Given the description of an element on the screen output the (x, y) to click on. 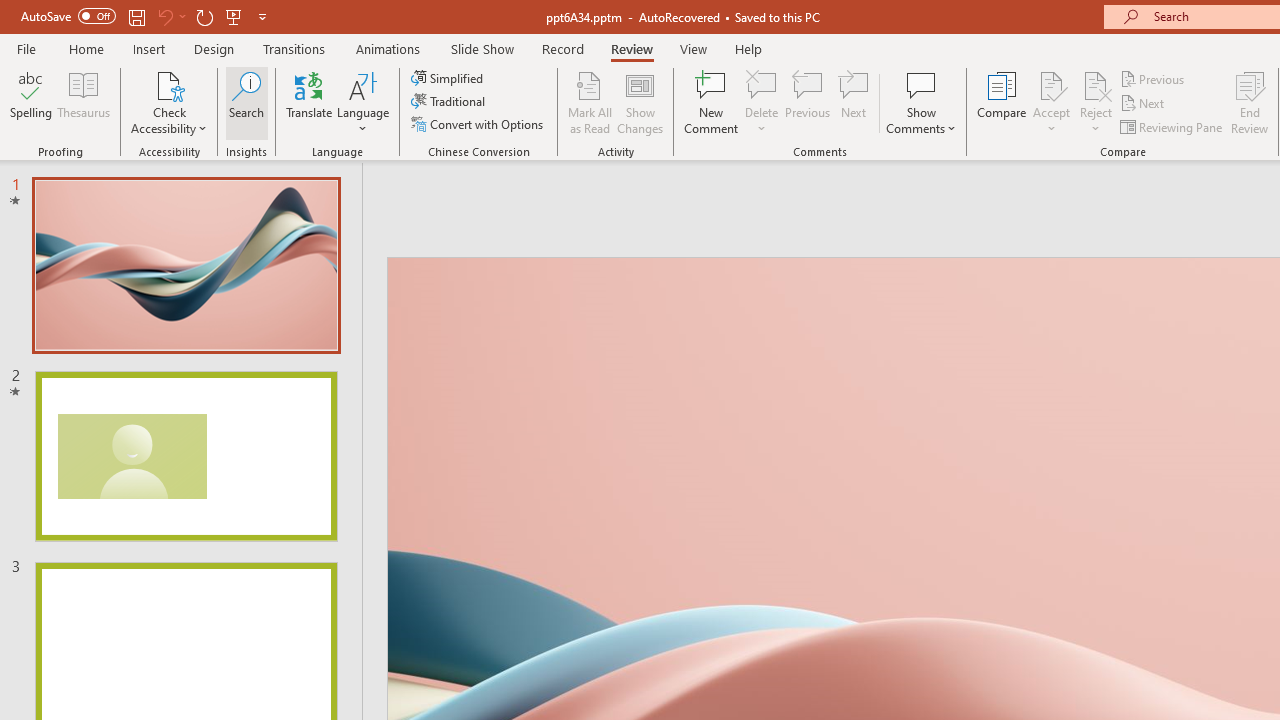
Reject (1096, 102)
Show Changes (639, 102)
Delete (762, 84)
Accept Change (1051, 84)
Show Comments (921, 84)
Convert with Options... (479, 124)
Previous (1153, 78)
